Given the description of an element on the screen output the (x, y) to click on. 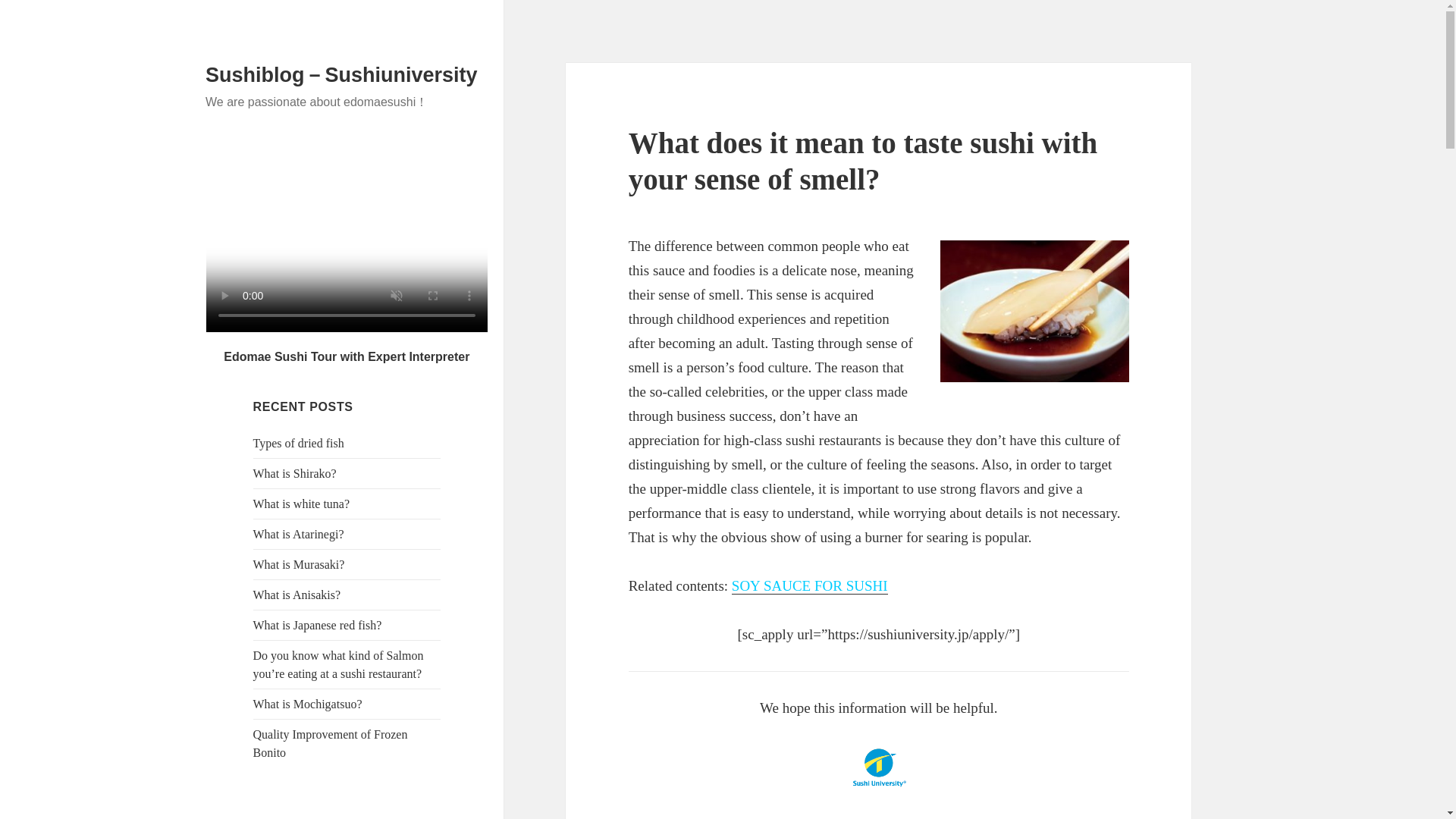
What is Mochigatsuo? (307, 703)
Quality Improvement of Frozen Bonito (330, 743)
Edomae Sushi Tour with Expert Interpreter (346, 356)
What is Atarinegi? (298, 533)
What is Murasaki? (299, 563)
What is Shirako? (294, 472)
What is Japanese red fish? (317, 625)
Types of dried fish (298, 442)
What is white tuna? (301, 503)
What is Anisakis? (296, 594)
